Given the description of an element on the screen output the (x, y) to click on. 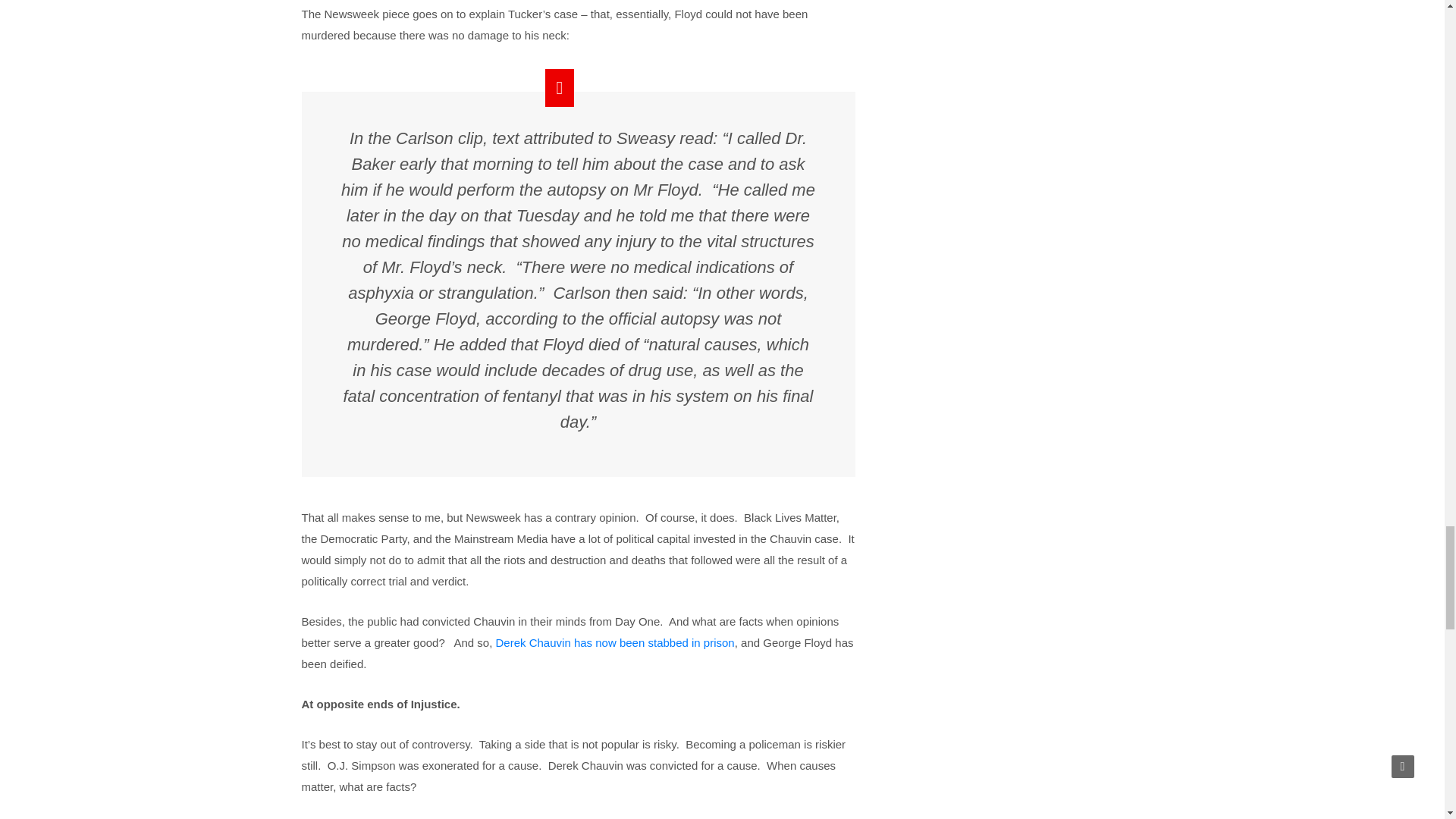
Derek Chauvin has now been stabbed in prison (612, 642)
